Given the description of an element on the screen output the (x, y) to click on. 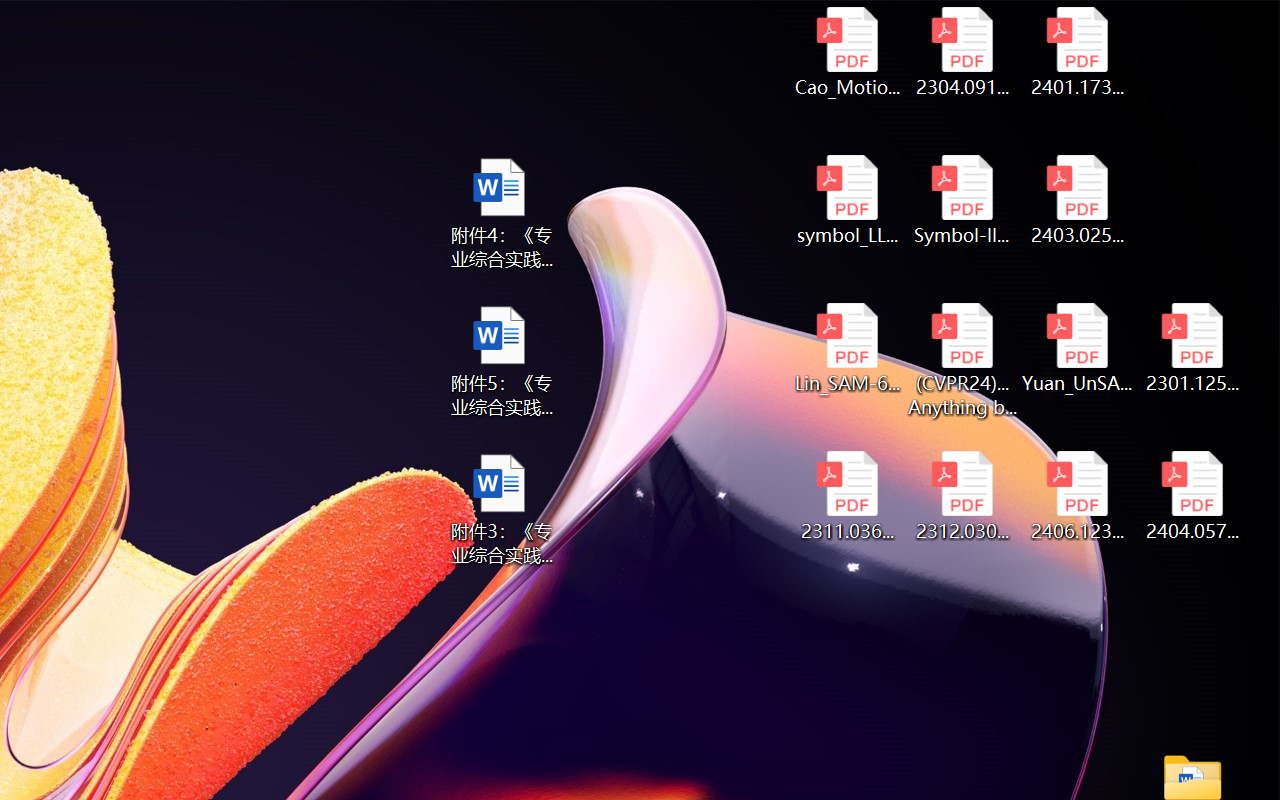
symbol_LLM.pdf (846, 200)
2304.09121v3.pdf (962, 52)
